Given the description of an element on the screen output the (x, y) to click on. 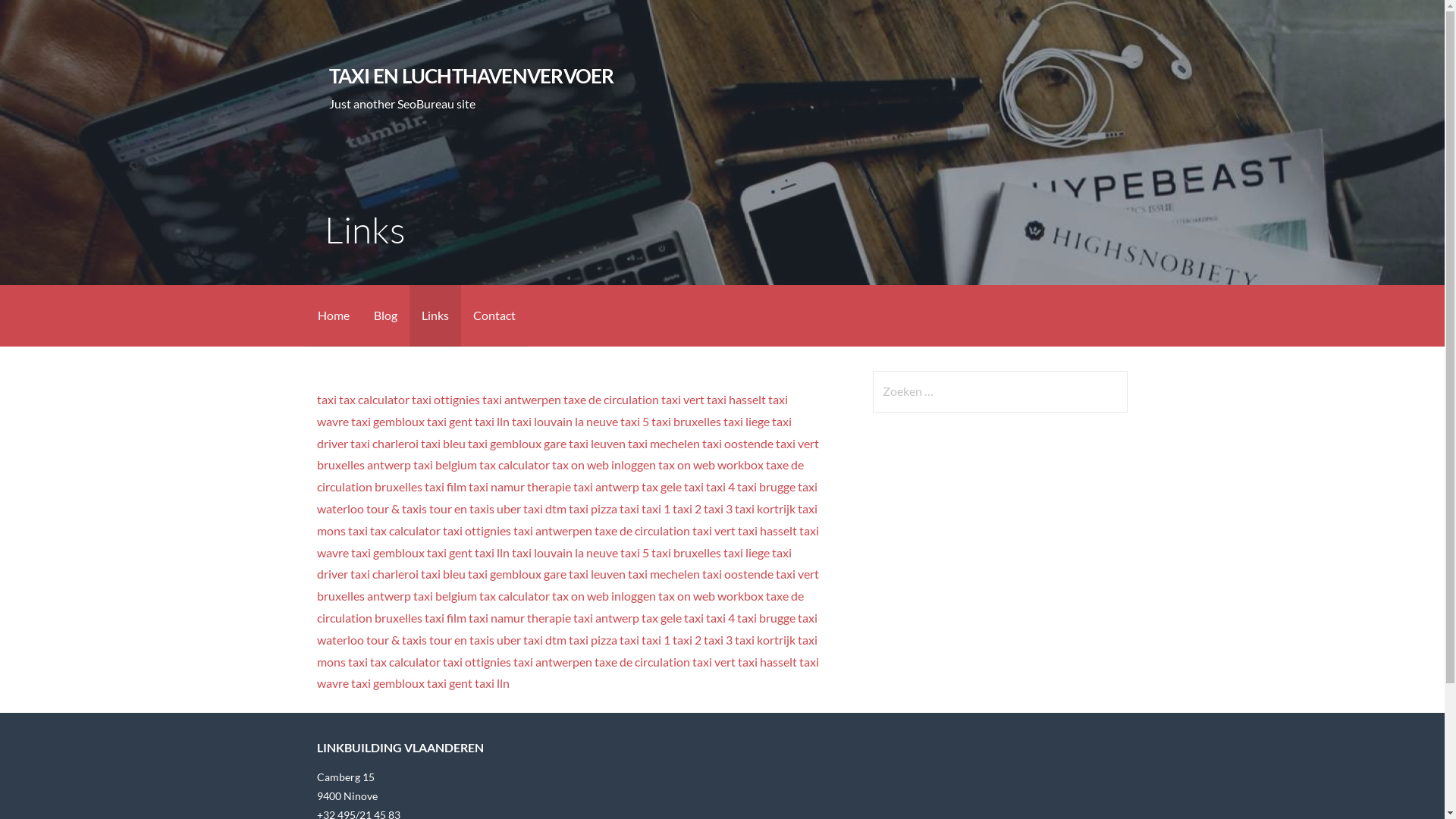
taxi gembloux Element type: text (387, 682)
taxi antwerpen Element type: text (552, 661)
antwerp tax Element type: text (626, 617)
taxi kortrijk Element type: text (764, 639)
taxi 2 Element type: text (686, 508)
taxi wavre Element type: text (567, 672)
taxi 4 Element type: text (720, 486)
taxi charleroi Element type: text (384, 573)
taxi driver Element type: text (553, 563)
tax on web workbox Element type: text (710, 595)
taxi gent Element type: text (449, 421)
pizza taxi Element type: text (614, 508)
taxi namur Element type: text (496, 617)
taxi louvain la neuve Element type: text (564, 421)
tax on web workbox Element type: text (710, 464)
taxi 5 Element type: text (634, 552)
taxi mechelen Element type: text (663, 573)
uber taxi Element type: text (519, 639)
taxi liege Element type: text (746, 552)
taxi lln Element type: text (491, 552)
taxi film Element type: text (445, 617)
dtm taxi Element type: text (566, 639)
taxi wavre Element type: text (567, 541)
tax calculator Element type: text (405, 530)
tax calculator Element type: text (373, 399)
taxi vert Element type: text (713, 530)
taxi leuven Element type: text (596, 573)
taxi vert bruxelles Element type: text (567, 454)
taxi vert bruxelles Element type: text (567, 584)
taxi Element type: text (357, 530)
taxi gent Element type: text (449, 682)
tour & taxis Element type: text (396, 639)
Zoeken Element type: text (42, 18)
taxi brugge Element type: text (766, 617)
taxi lln Element type: text (491, 682)
taxe de circulation bruxelles Element type: text (559, 606)
Blog Element type: text (384, 315)
TAXI EN LUCHTHAVENVERVOER Element type: text (471, 75)
taxi ottignies Element type: text (476, 530)
taxi driver Element type: text (553, 432)
taxi bleu Element type: text (442, 573)
taxi vert Element type: text (713, 661)
taxi bleu Element type: text (442, 443)
Home Element type: text (332, 315)
taxi kortrijk Element type: text (764, 508)
taxi gembloux gare Element type: text (516, 573)
taxi 4 Element type: text (720, 617)
taxi waterloo Element type: text (566, 497)
taxe de circulation Element type: text (642, 530)
taxi lln Element type: text (491, 421)
belgium tax calculator Element type: text (492, 464)
antwerp taxi Element type: text (400, 595)
taxi leuven Element type: text (596, 443)
taxi 3 Element type: text (717, 508)
taxe de circulation Element type: text (610, 399)
taxi vert Element type: text (682, 399)
taxi ottignies Element type: text (476, 661)
tax calculator Element type: text (405, 661)
taxi gembloux Element type: text (387, 552)
therapie taxi Element type: text (560, 486)
taxi antwerpen Element type: text (552, 530)
Links Element type: text (435, 315)
taxi hasselt Element type: text (767, 530)
tour en taxis Element type: text (461, 639)
antwerp tax Element type: text (626, 486)
taxi gembloux Element type: text (387, 421)
dtm taxi Element type: text (566, 508)
taxi 3 Element type: text (717, 639)
Contact Element type: text (494, 315)
gele taxi Element type: text (681, 486)
taxi hasselt Element type: text (735, 399)
taxi gent Element type: text (449, 552)
taxi mons Element type: text (566, 650)
taxi mons Element type: text (566, 519)
taxi antwerpen Element type: text (521, 399)
belgium tax calculator Element type: text (492, 595)
taxi Element type: text (326, 399)
taxi liege Element type: text (746, 421)
taxi oostende Element type: text (737, 573)
tax on web inloggen Element type: text (603, 595)
taxi hasselt Element type: text (767, 661)
taxi louvain la neuve Element type: text (564, 552)
taxi film Element type: text (445, 486)
taxi oostende Element type: text (737, 443)
taxi bruxelles Element type: text (686, 421)
pizza taxi Element type: text (614, 639)
gele taxi Element type: text (681, 617)
taxi mechelen Element type: text (663, 443)
taxi ottignies Element type: text (445, 399)
taxi 1 Element type: text (655, 508)
taxi wavre Element type: text (551, 410)
taxi namur Element type: text (496, 486)
taxi 2 Element type: text (686, 639)
taxe de circulation Element type: text (642, 661)
tour & taxis Element type: text (396, 508)
taxi Element type: text (357, 661)
taxi 1 Element type: text (655, 639)
therapie taxi Element type: text (560, 617)
taxe de circulation bruxelles Element type: text (559, 475)
tour en taxis Element type: text (461, 508)
taxi brugge Element type: text (766, 486)
tax on web inloggen Element type: text (603, 464)
taxi bruxelles Element type: text (686, 552)
taxi 5 Element type: text (634, 421)
uber taxi Element type: text (519, 508)
taxi waterloo Element type: text (566, 628)
antwerp taxi Element type: text (400, 464)
taxi charleroi Element type: text (384, 443)
taxi gembloux gare Element type: text (516, 443)
